Given the description of an element on the screen output the (x, y) to click on. 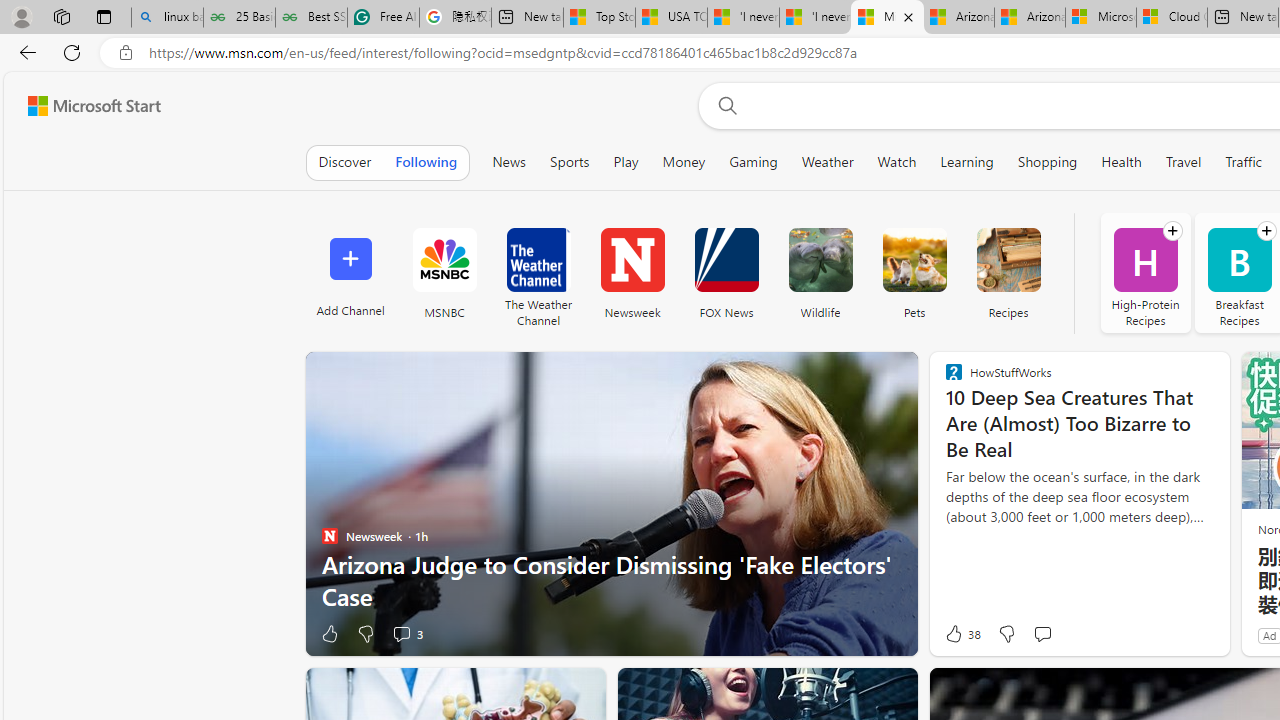
Recipes (1007, 272)
Travel (1183, 161)
Like (329, 633)
Skip to content (86, 105)
Best SSL Certificates Provider in India - GeeksforGeeks (311, 17)
Weather (827, 161)
Play (626, 162)
Pets (914, 260)
Learning (966, 161)
Free AI Writing Assistance for Students | Grammarly (383, 17)
View comments 3 Comment (401, 633)
Wildlife (820, 260)
Microsoft Services Agreement (1101, 17)
